Given the description of an element on the screen output the (x, y) to click on. 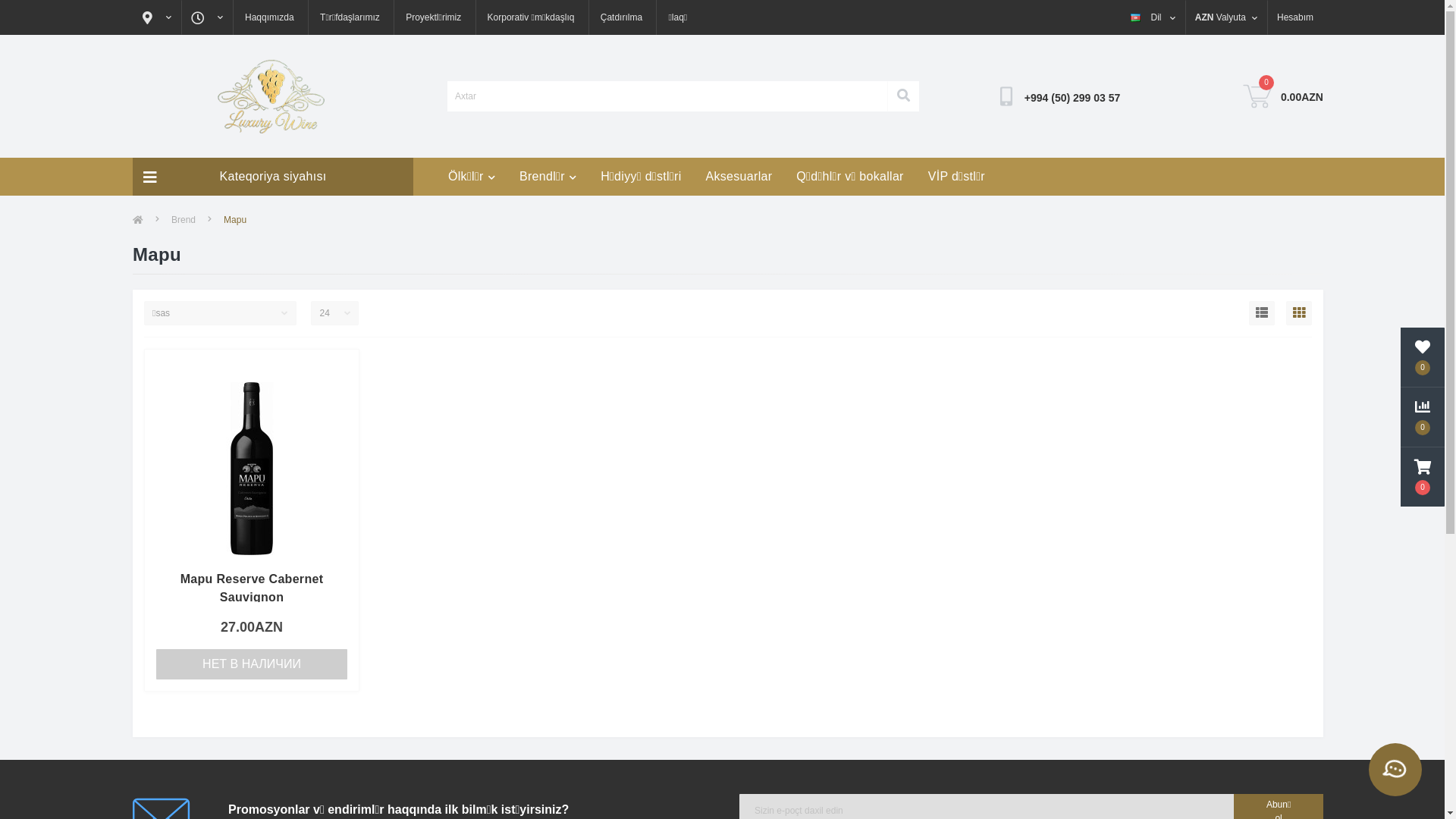
AZN Valyuta Element type: text (1226, 17)
Dil Element type: text (1152, 17)
Brend Element type: text (183, 219)
0 Element type: text (1257, 95)
Mapu Reserve Cabernet Sauvignon Element type: text (251, 587)
Aksesuarlar Element type: text (738, 176)
0 Element type: text (1422, 356)
Mapu Reserve Cabernet Sauvignon Element type: hover (251, 468)
+994 (50) 299 03 57 Element type: text (1072, 97)
0 Element type: text (1422, 416)
0 Element type: text (1422, 476)
LuxuryWine Element type: hover (272, 96)
